Given the description of an element on the screen output the (x, y) to click on. 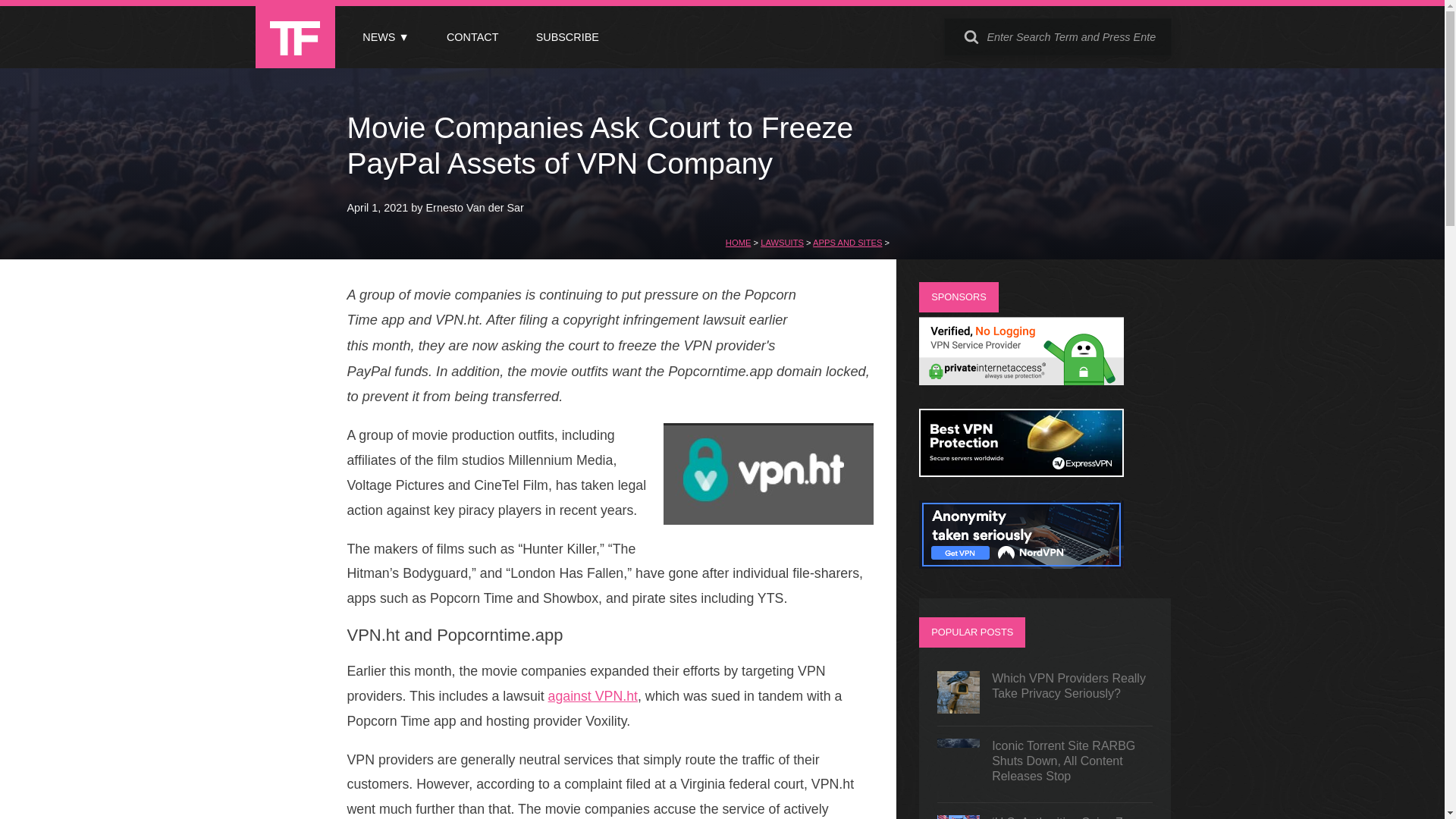
CONTACT (471, 37)
Go to TorrentFreak. (738, 242)
HOME (738, 242)
Go to the Lawsuits category archives. (781, 242)
Go to the Apps and Sites category archives. (847, 242)
ExpressVPN (1021, 472)
Which VPN Providers Really Take Privacy Seriously? (1045, 691)
Private Internet Access (1021, 380)
SUBSCRIBE (566, 37)
APPS AND SITES (847, 242)
against VPN.ht (592, 695)
Ernesto Van der Sar (475, 207)
LAWSUITS (781, 242)
